Given the description of an element on the screen output the (x, y) to click on. 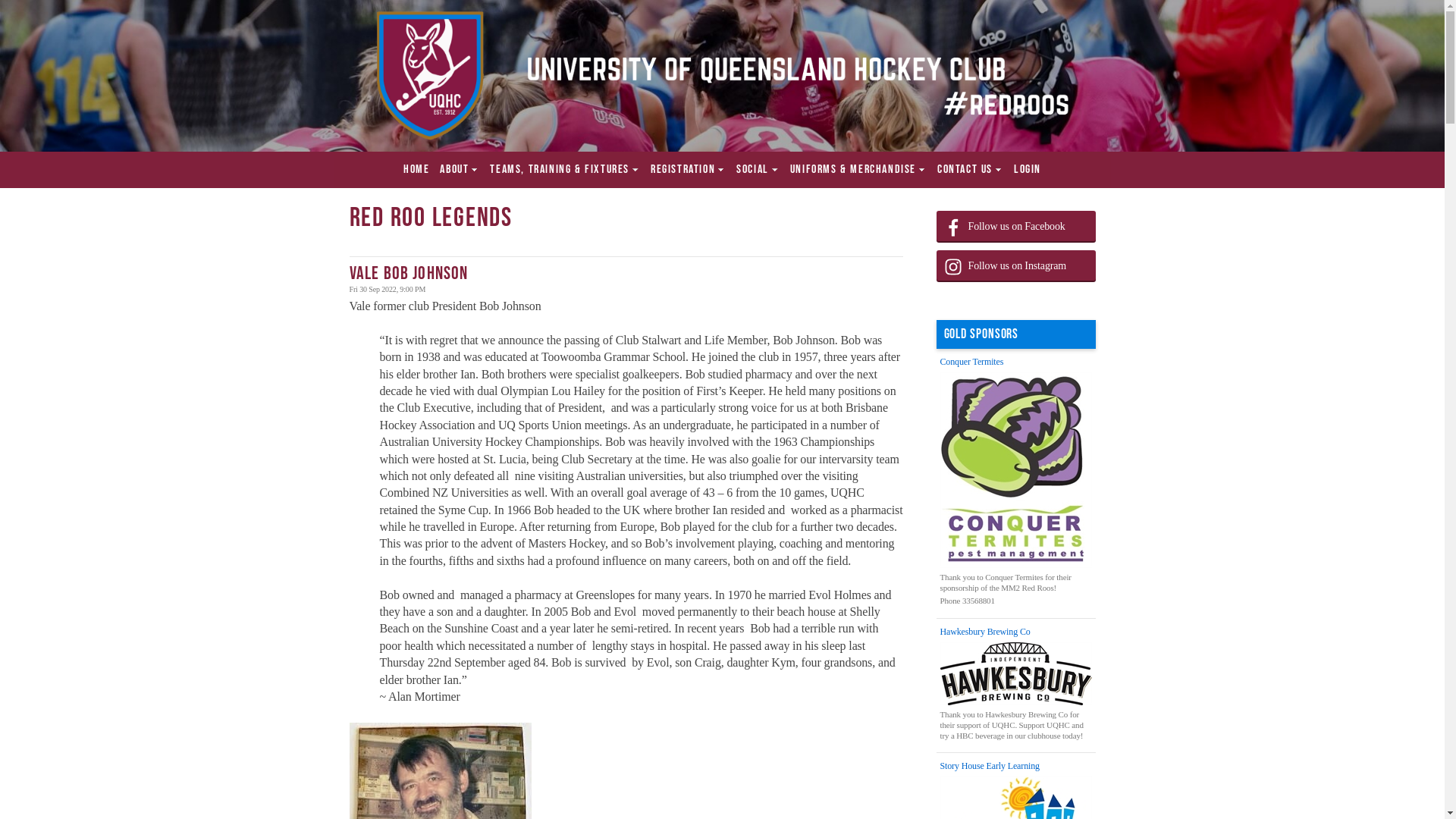
SOCIAL Element type: text (757, 169)
UNIFORMS & MERCHANDISE Element type: text (857, 169)
ABOUT Element type: text (459, 169)
Follow us on Facebook Element type: text (1015, 226)
HOME Element type: text (416, 169)
REGISTRATION Element type: text (688, 169)
CONTACT US Element type: text (969, 169)
Follow us on Instagram Element type: text (1015, 266)
LOGIN Element type: text (1027, 169)
Story House Early Learning Element type: text (1016, 766)
Conquer Termites Element type: text (1016, 362)
TEAMS, TRAINING & FIXTURES Element type: text (564, 169)
Hawkesbury Brewing Co Element type: text (1016, 632)
